Given the description of an element on the screen output the (x, y) to click on. 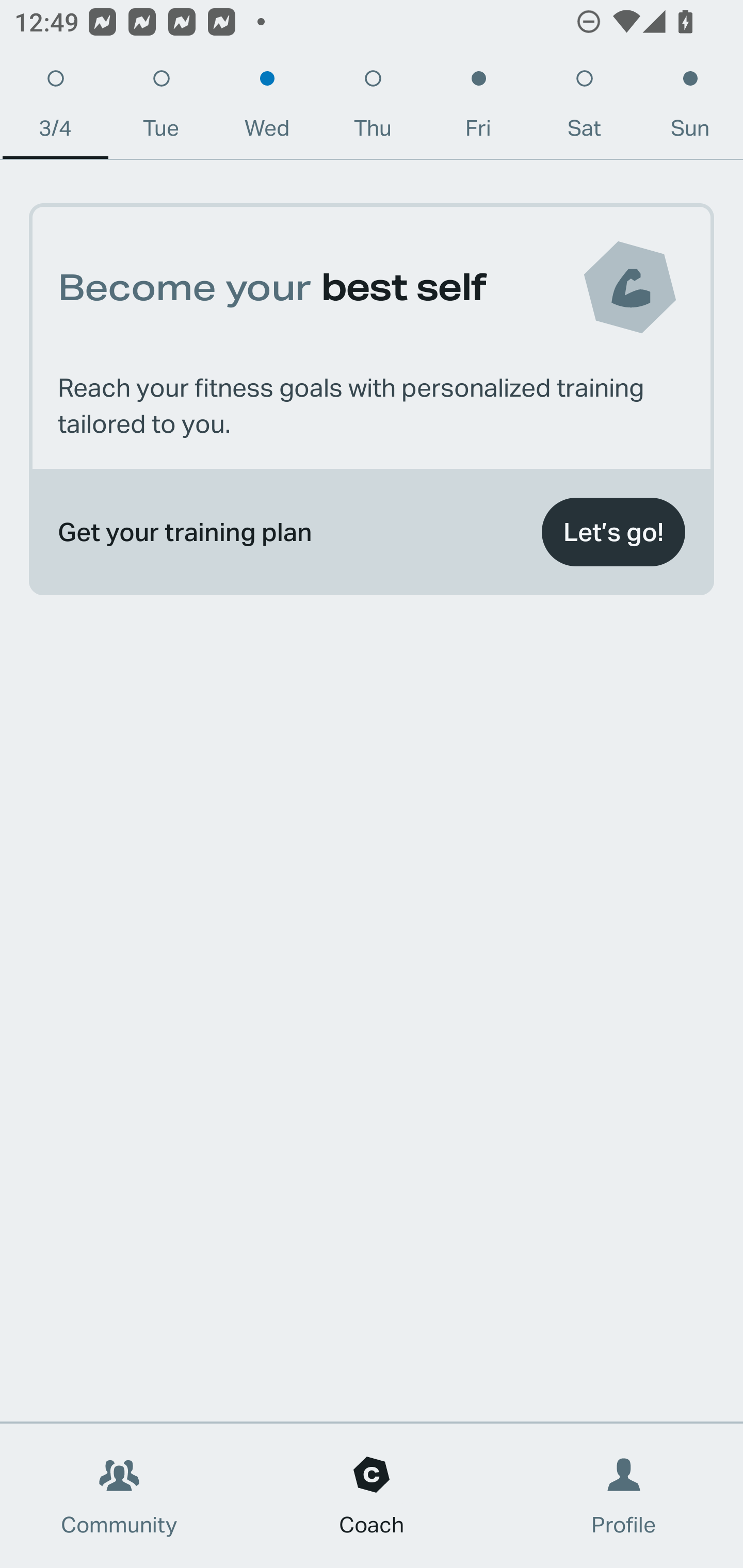
3/4 (55, 108)
Tue (160, 108)
Wed (266, 108)
Thu (372, 108)
Fri (478, 108)
Sat (584, 108)
Sun (690, 108)
Let’s go! (613, 532)
Community (119, 1495)
Profile (624, 1495)
